Given the description of an element on the screen output the (x, y) to click on. 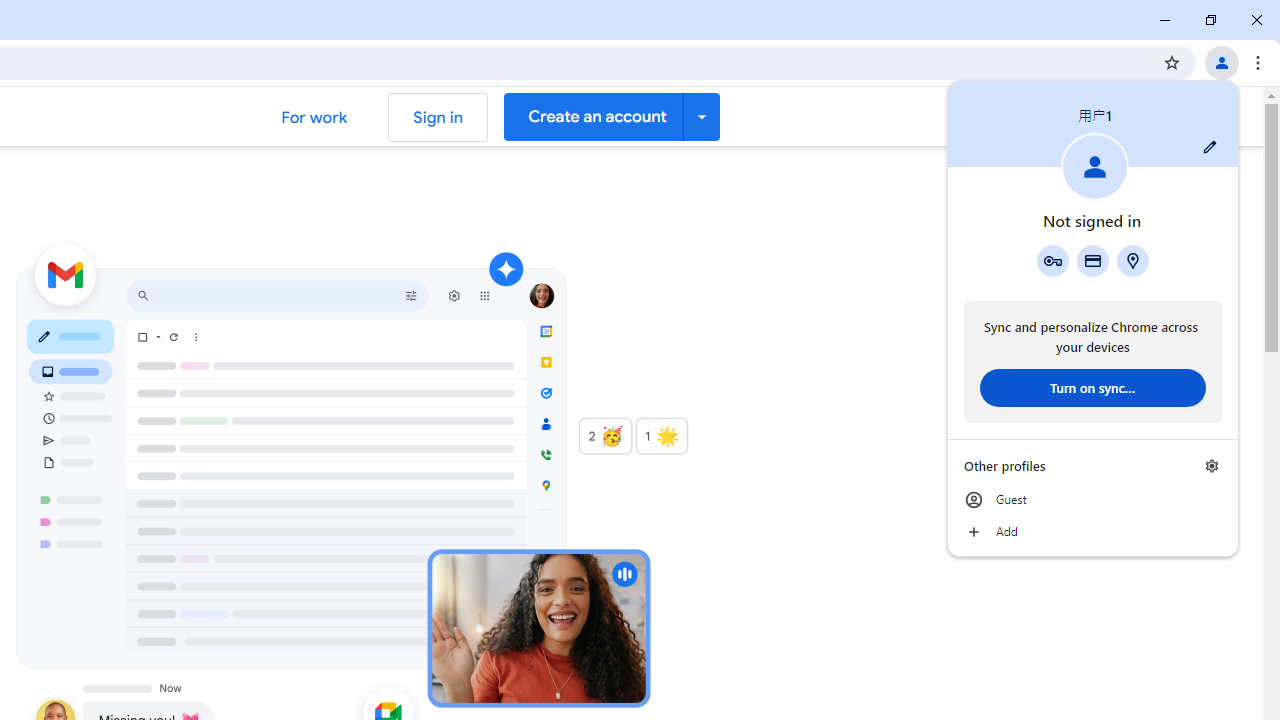
Addresses and more (1133, 260)
Manage profiles (1211, 465)
Create an account (611, 116)
Guest (1092, 499)
Payment methods (1092, 260)
Customize profile (1210, 147)
Google Password Manager (1052, 260)
Add (1092, 531)
For work (314, 116)
